Given the description of an element on the screen output the (x, y) to click on. 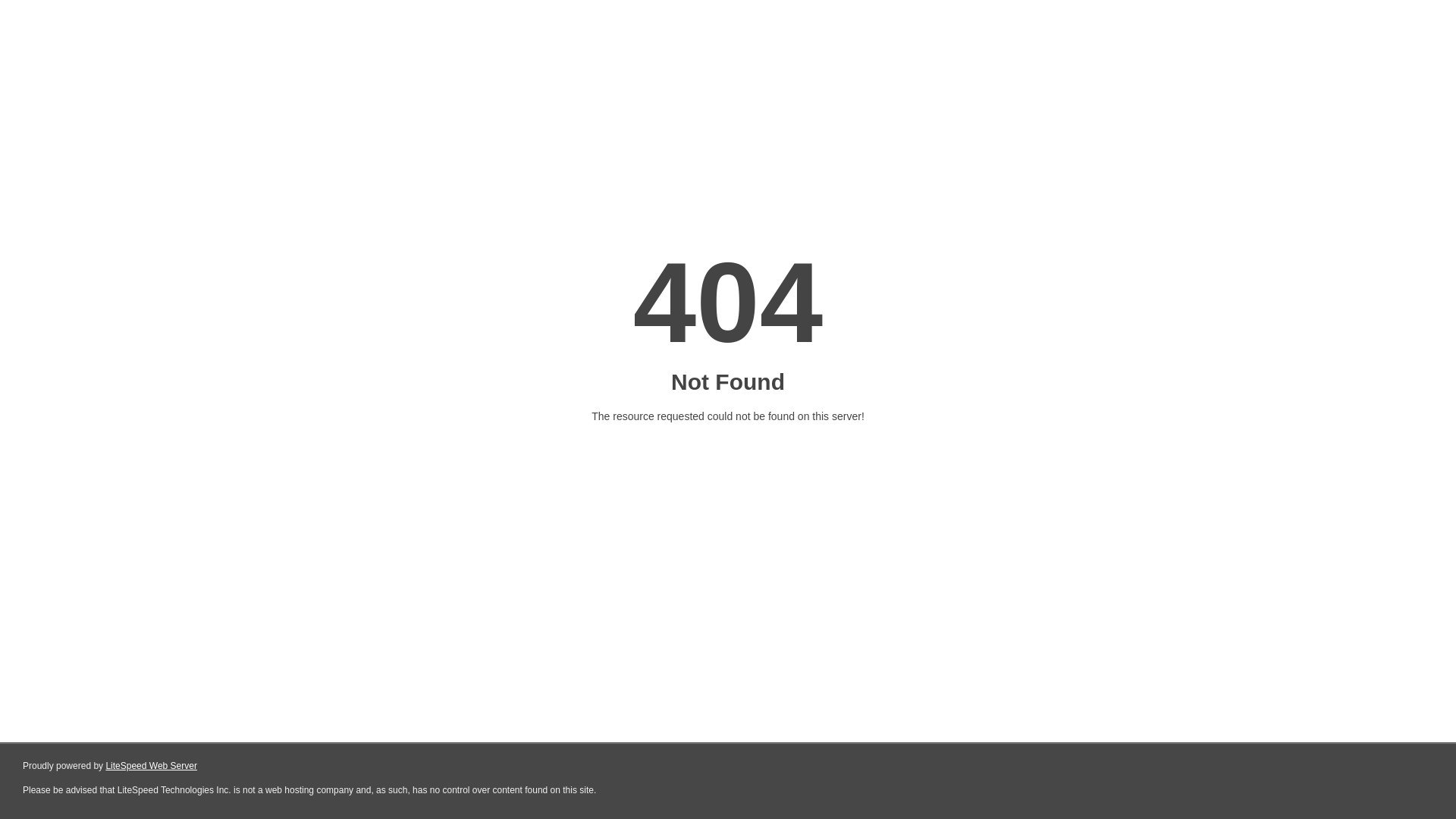
LiteSpeed Web Server Element type: text (151, 765)
